Given the description of an element on the screen output the (x, y) to click on. 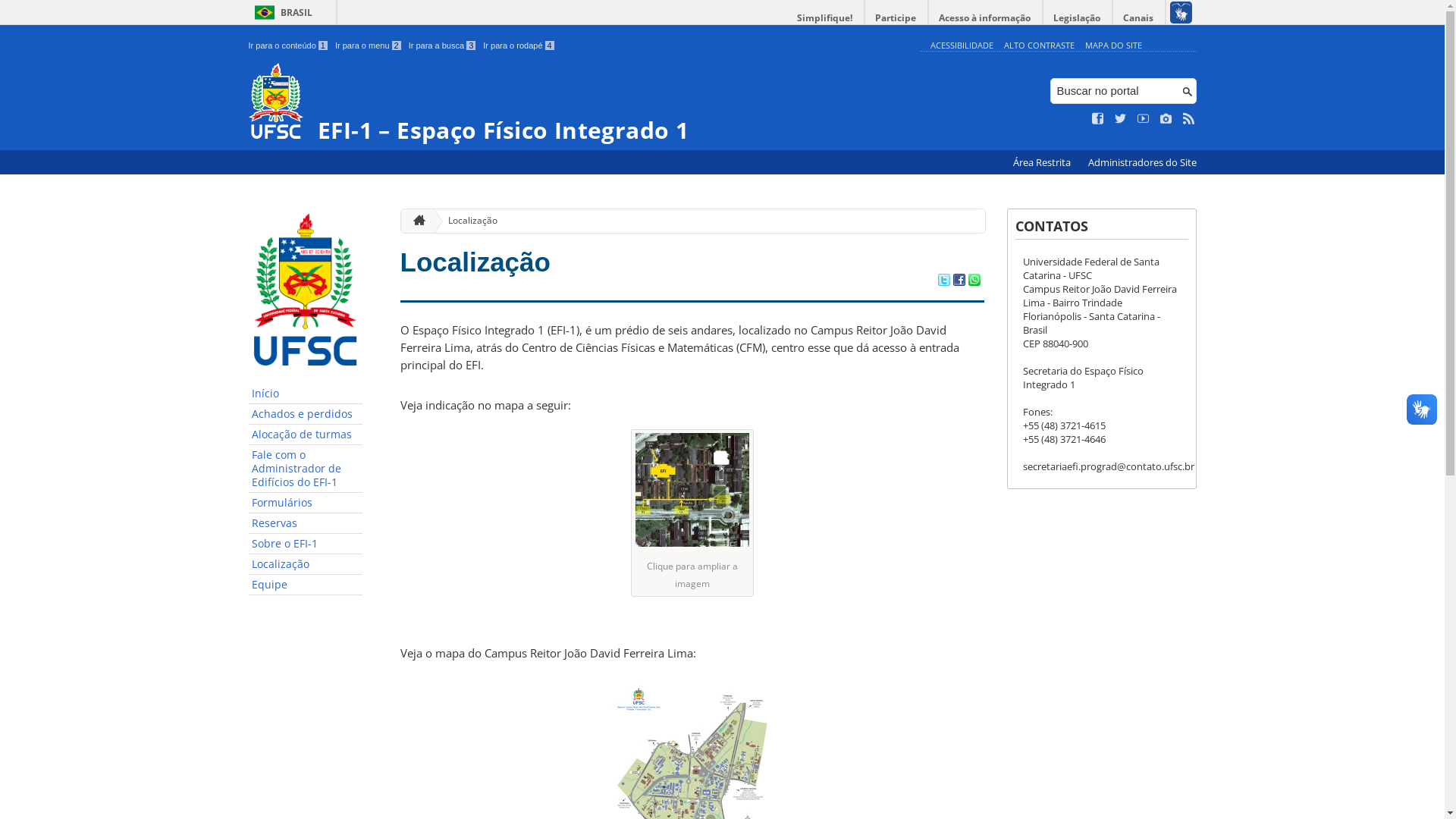
ACESSIBILIDADE Element type: text (960, 44)
BRASIL Element type: text (280, 12)
Administradores do Site Element type: text (1141, 162)
Ir para o menu 2 Element type: text (368, 45)
Reservas Element type: text (305, 523)
Achados e perdidos Element type: text (305, 414)
Equipe Element type: text (305, 584)
Participe Element type: text (895, 18)
Ir para a busca 3 Element type: text (442, 45)
ALTO CONTRASTE Element type: text (1039, 44)
Canais Element type: text (1138, 18)
Compartilhar no Twitter Element type: hover (943, 280)
Veja no Instagram Element type: hover (1166, 118)
Siga no Twitter Element type: hover (1120, 118)
MAPA DO SITE Element type: text (1112, 44)
Curta no Facebook Element type: hover (1098, 118)
Sobre o EFI-1 Element type: text (305, 543)
Compartilhar no Facebook Element type: hover (958, 280)
Compartilhar no WhatsApp Element type: hover (973, 280)
Simplifique! Element type: text (825, 18)
